Given the description of an element on the screen output the (x, y) to click on. 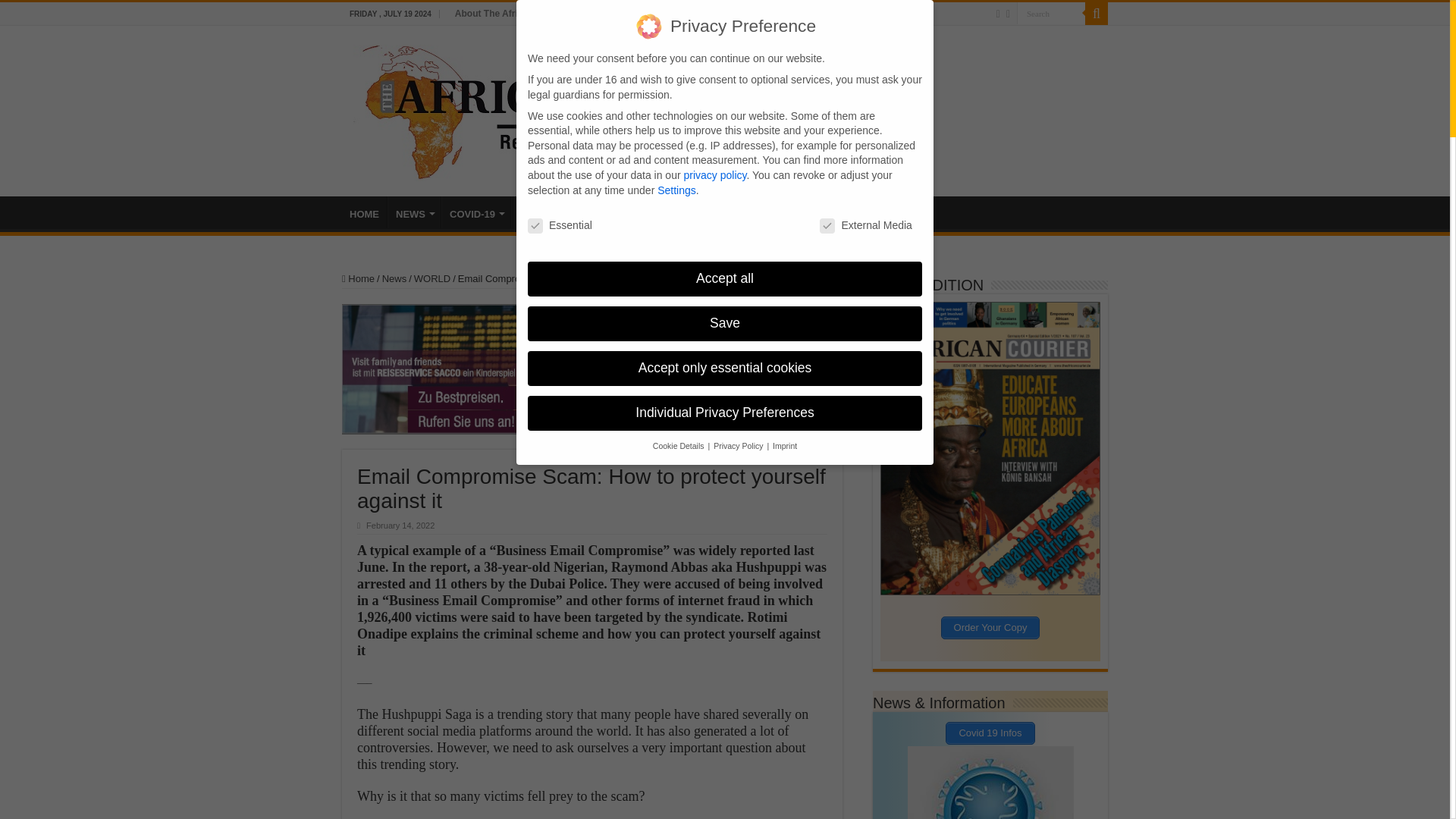
Search (1050, 13)
Search (1050, 13)
HOME (364, 212)
Open Cookie Preferences (32, 799)
THE AFRICAN COURIER. Reporting Africa and its Diaspora! (569, 109)
Search (1050, 13)
